Given the description of an element on the screen output the (x, y) to click on. 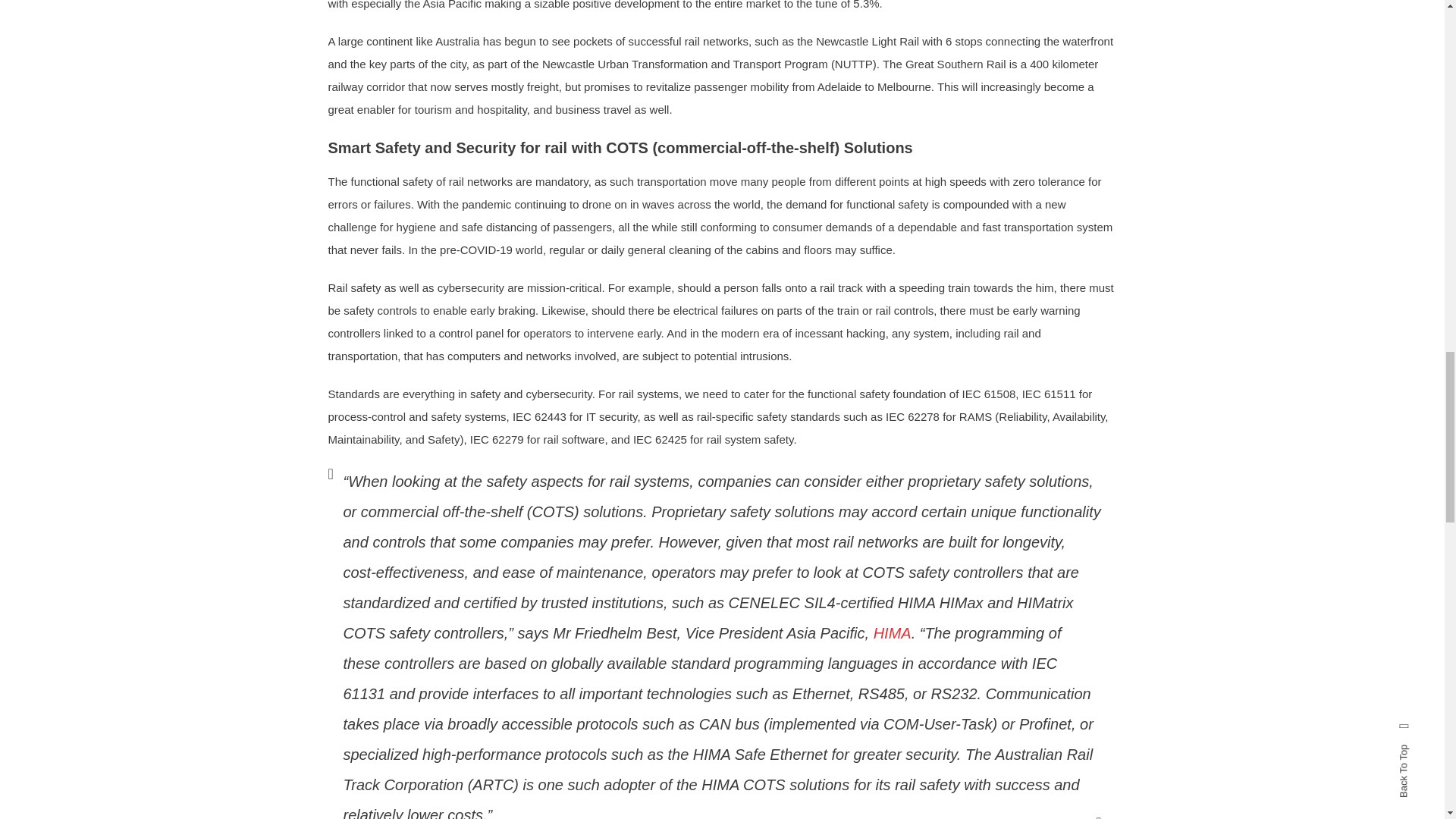
HIMA (892, 632)
